Given the description of an element on the screen output the (x, y) to click on. 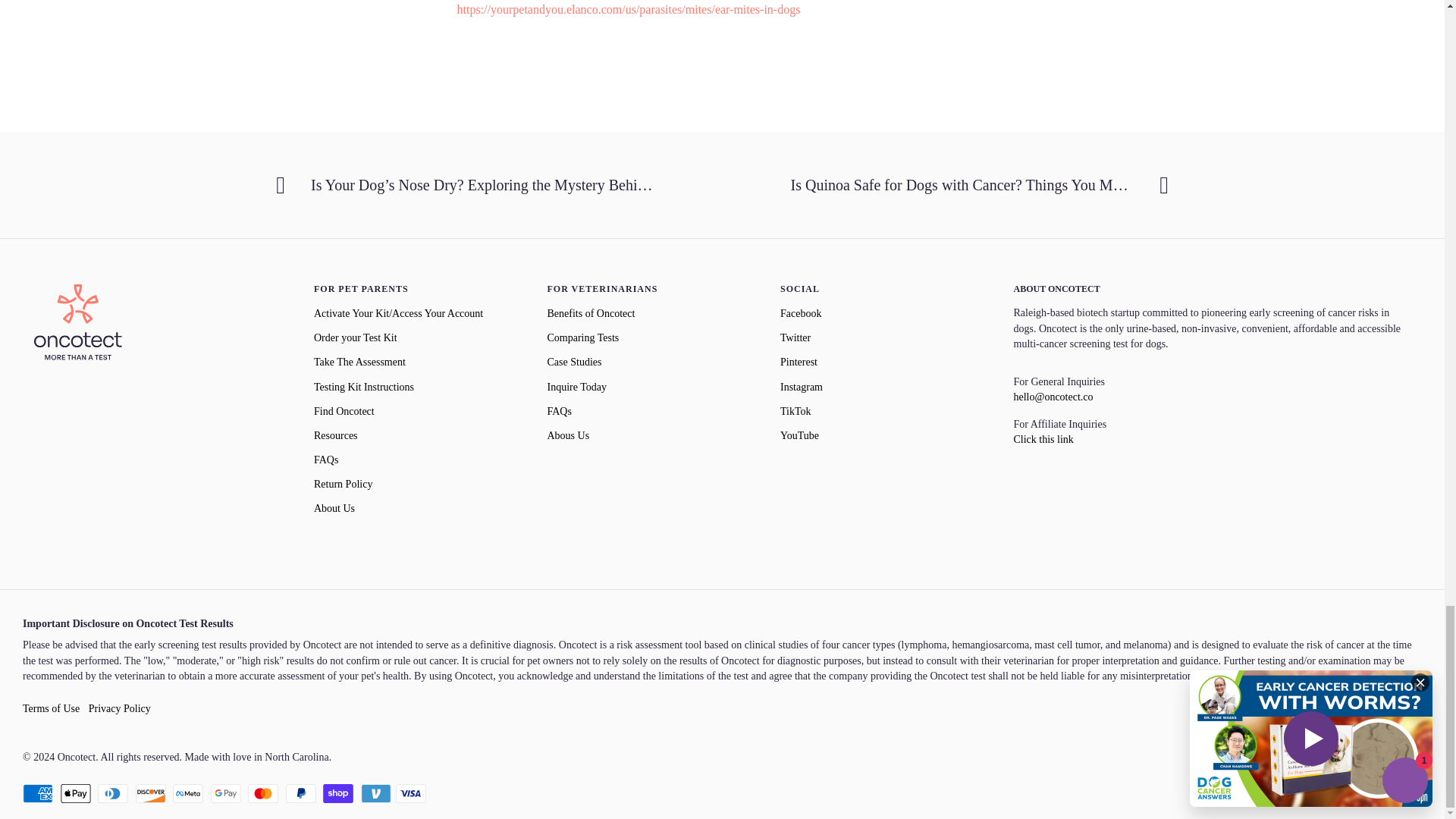
Google Pay (226, 793)
Venmo (376, 793)
American Express (37, 793)
Order your Test Kit (355, 337)
Discover (150, 793)
Diners Club (112, 793)
Shop Pay (338, 793)
YouTube (799, 435)
Facebook (800, 313)
Visa (411, 793)
null (1053, 396)
TikTok (795, 411)
Mastercard (262, 793)
Twitter (795, 337)
Instagram (801, 387)
